Given the description of an element on the screen output the (x, y) to click on. 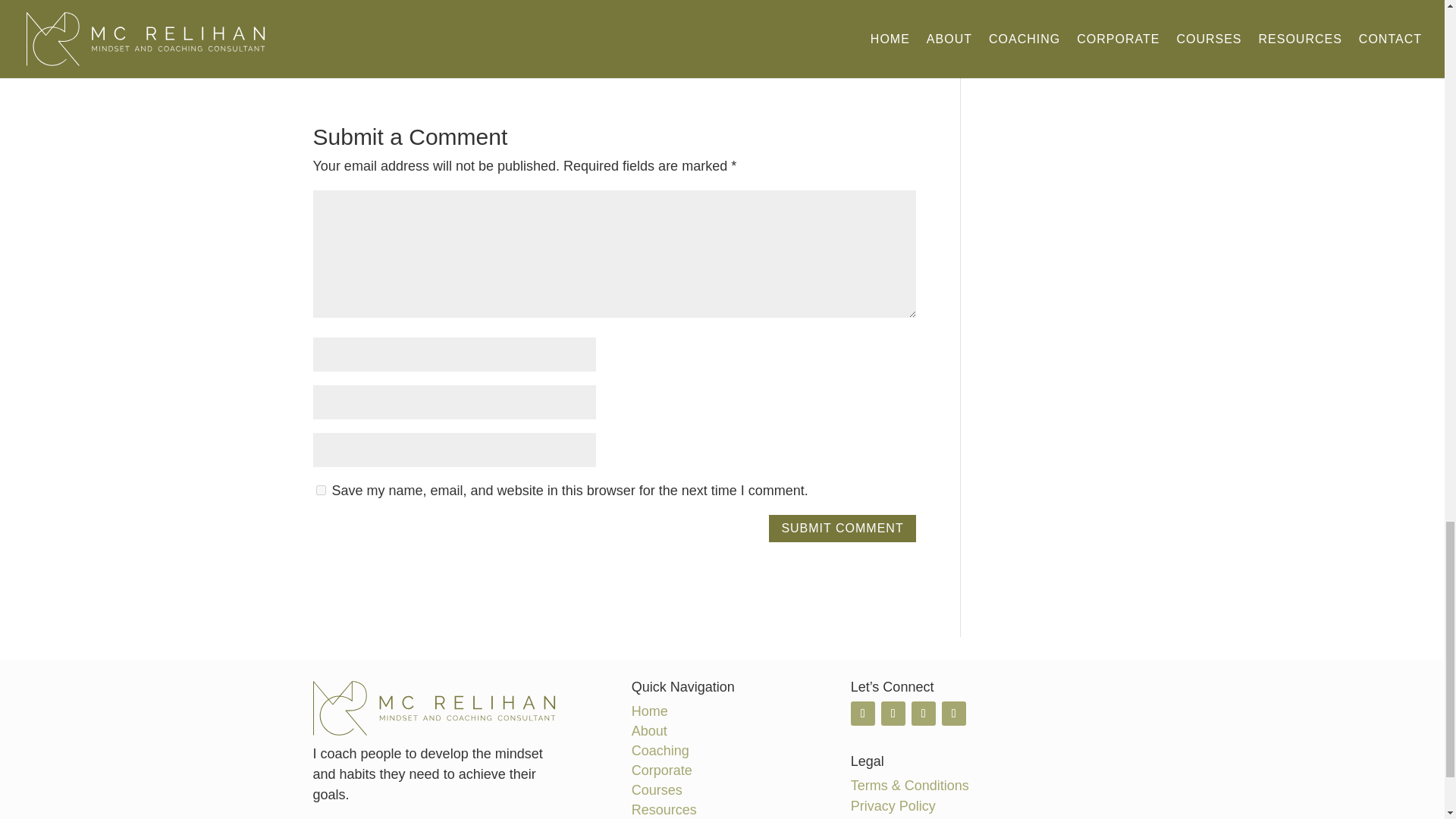
About (648, 730)
Follow on LinkedIn (892, 713)
Submit Comment (841, 528)
Corporate (662, 770)
Follow on Twitter (862, 713)
Coaching (659, 750)
Submit Comment (841, 528)
Follow on Instagram (923, 713)
Follow on Facebook (954, 713)
MC Relihan Logo Main (433, 707)
yes (319, 490)
Home (649, 711)
Privacy Policy (893, 806)
Courses (656, 789)
Resources (664, 809)
